Given the description of an element on the screen output the (x, y) to click on. 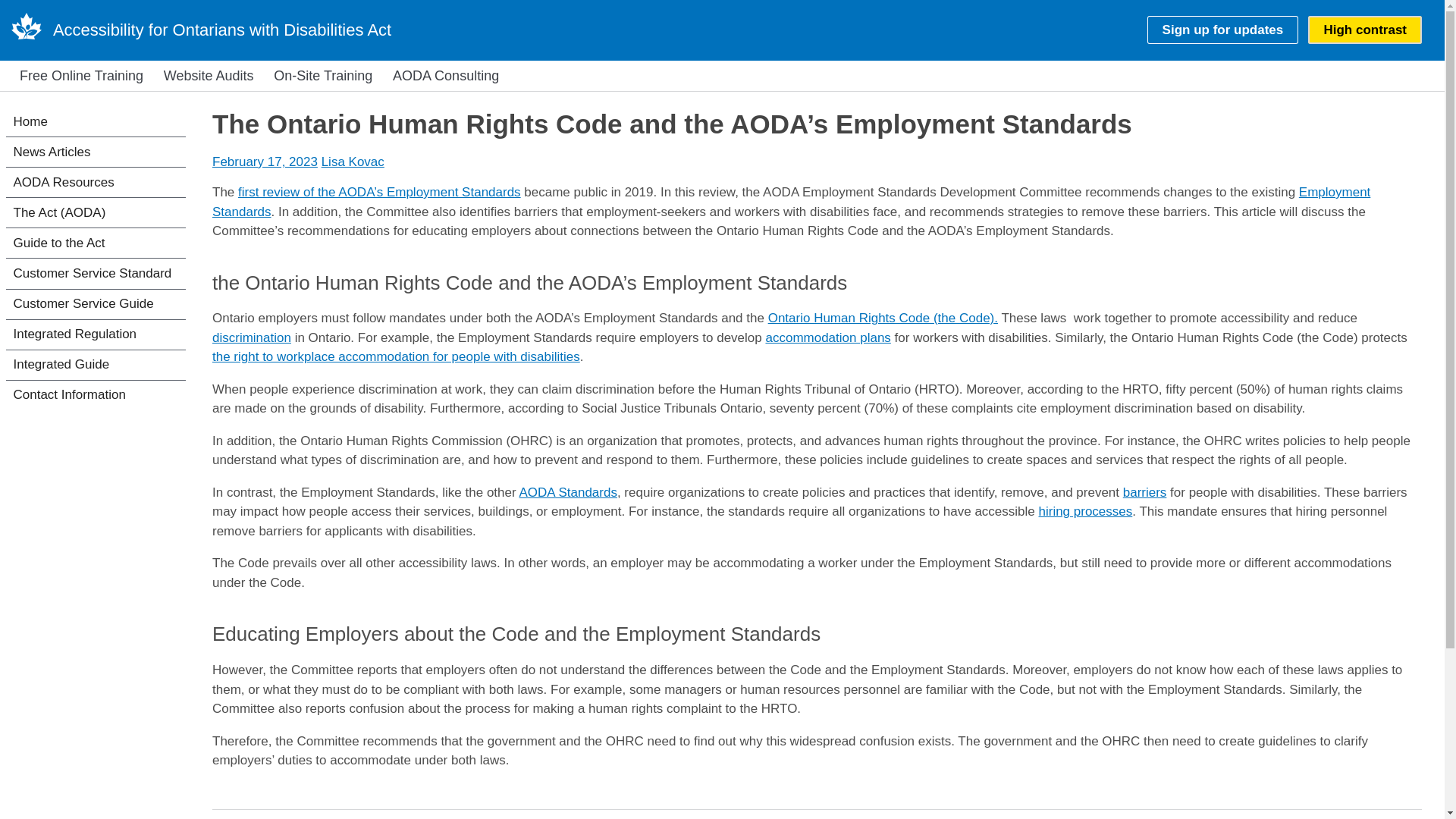
Home (221, 29)
AODA Consulting (445, 75)
AODA Resources (95, 182)
Guide to the Act (95, 242)
High contrast (1364, 29)
Customer Service Guide (95, 304)
Lisa Kovac (352, 161)
News Articles (95, 152)
accommodation plans (827, 337)
Customer Service Standard (95, 273)
